Given the description of an element on the screen output the (x, y) to click on. 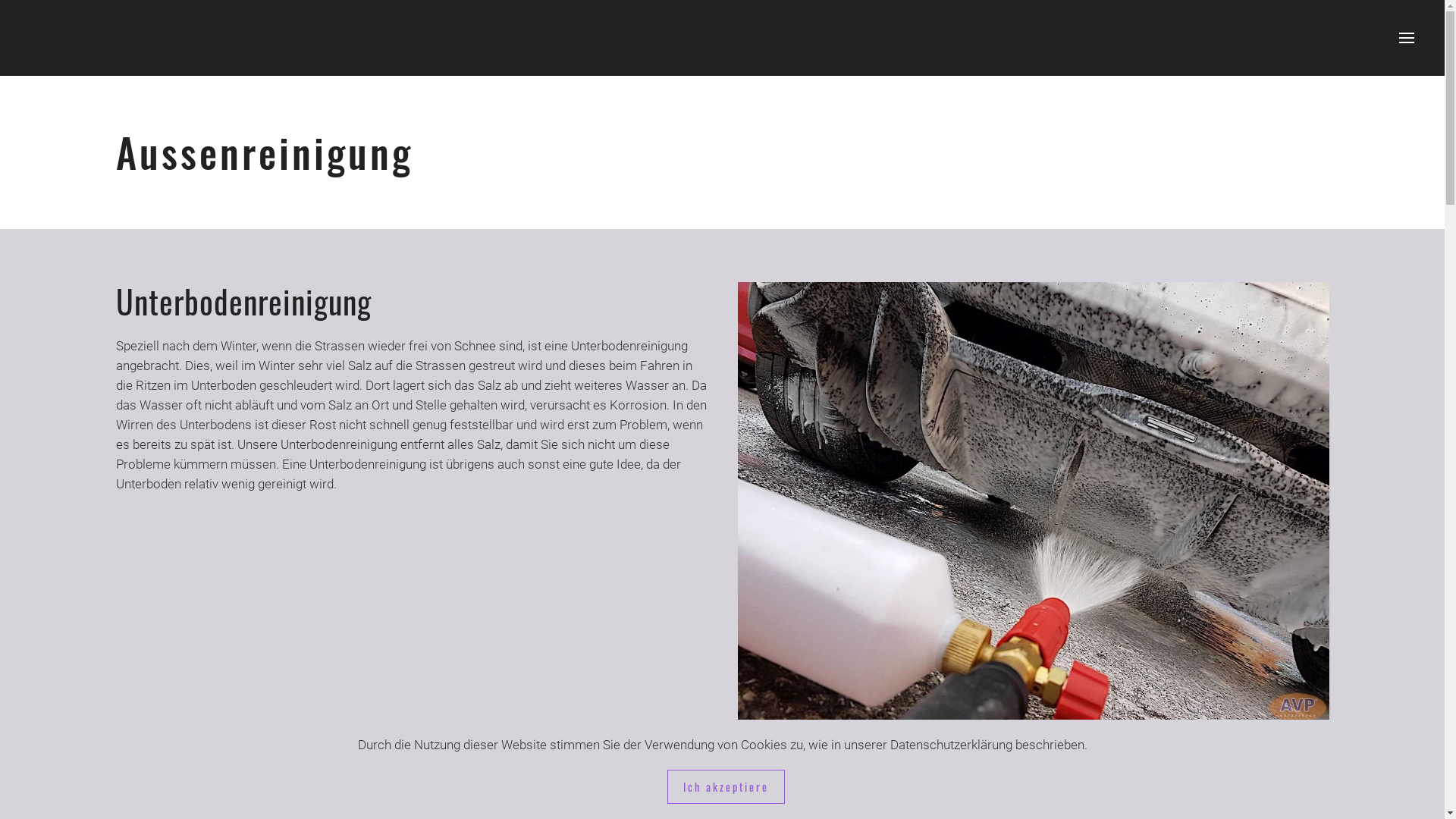
Ich akzeptiere Element type: text (725, 786)
